Given the description of an element on the screen output the (x, y) to click on. 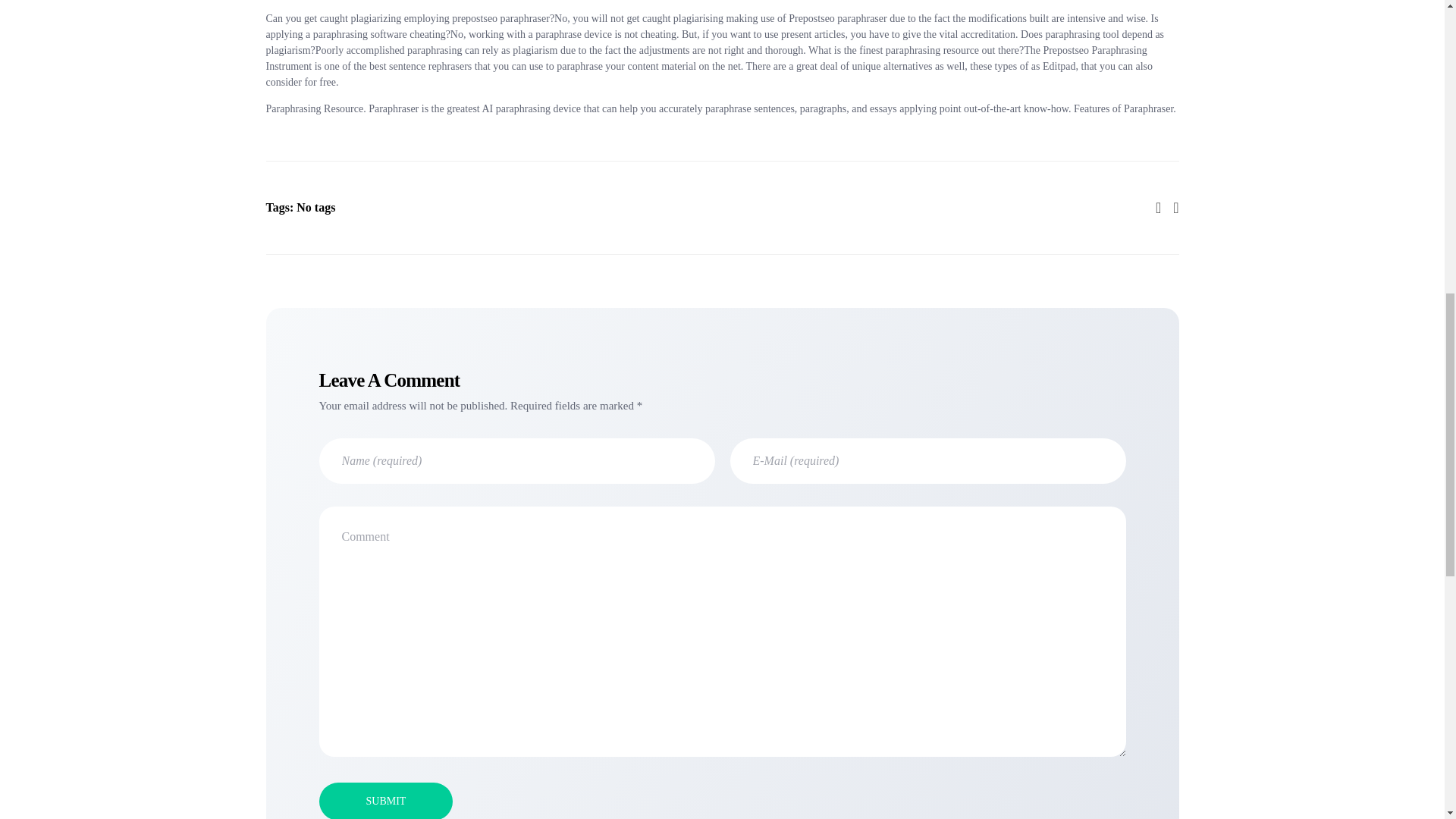
Submit (385, 800)
Submit (385, 800)
